Given the description of an element on the screen output the (x, y) to click on. 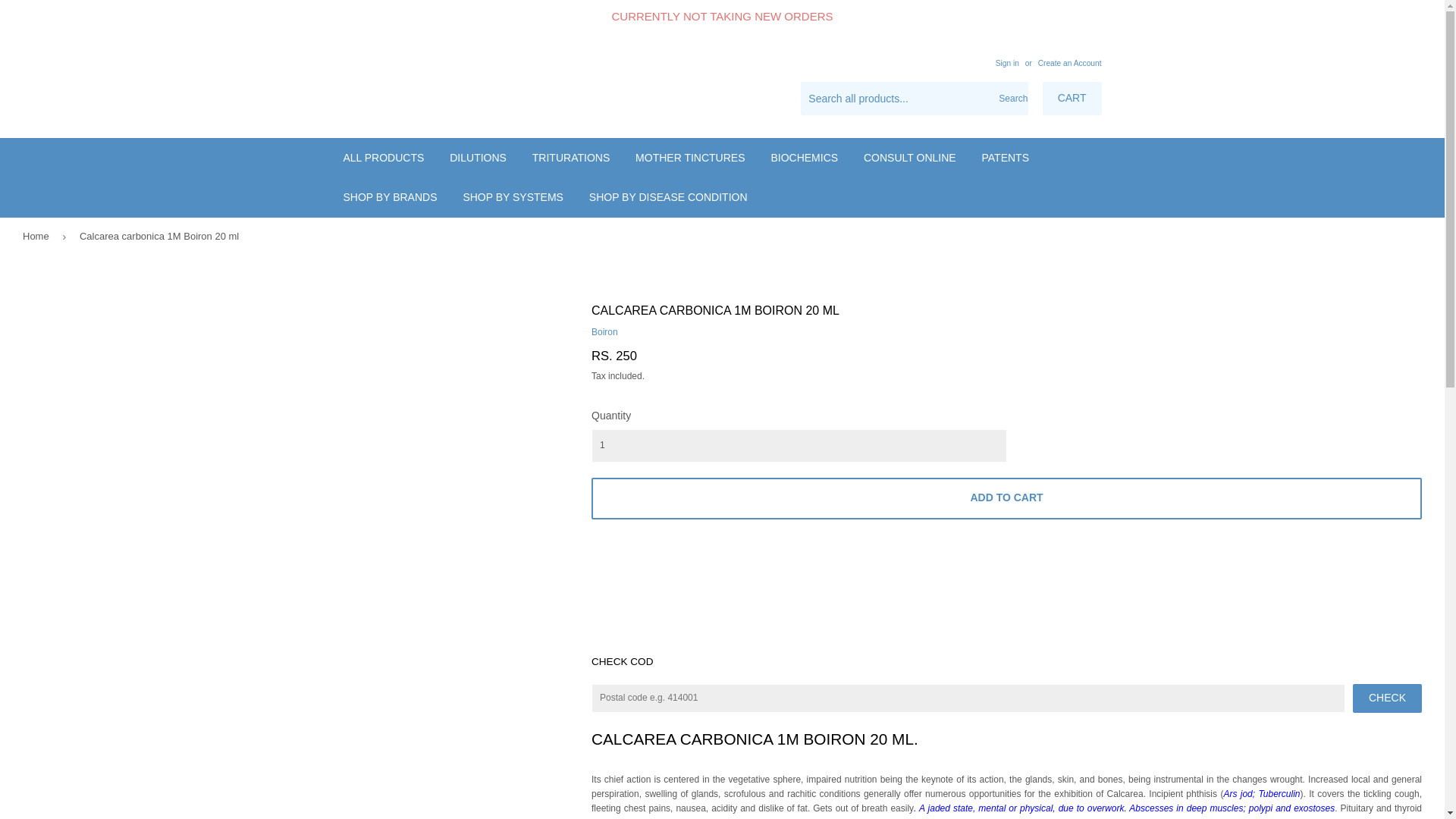
ALL PRODUCTS (383, 157)
SHOP BY BRANDS (389, 197)
BIOCHEMICS (803, 157)
1 (799, 445)
Search (1010, 99)
Boiron (604, 331)
TRITURATIONS (571, 157)
PATENTS (1006, 157)
CONSULT ONLINE (909, 157)
Create an Account (1070, 62)
CART (1072, 98)
DILUTIONS (478, 157)
MOTHER TINCTURES (689, 157)
Sign in (1007, 62)
